Given the description of an element on the screen output the (x, y) to click on. 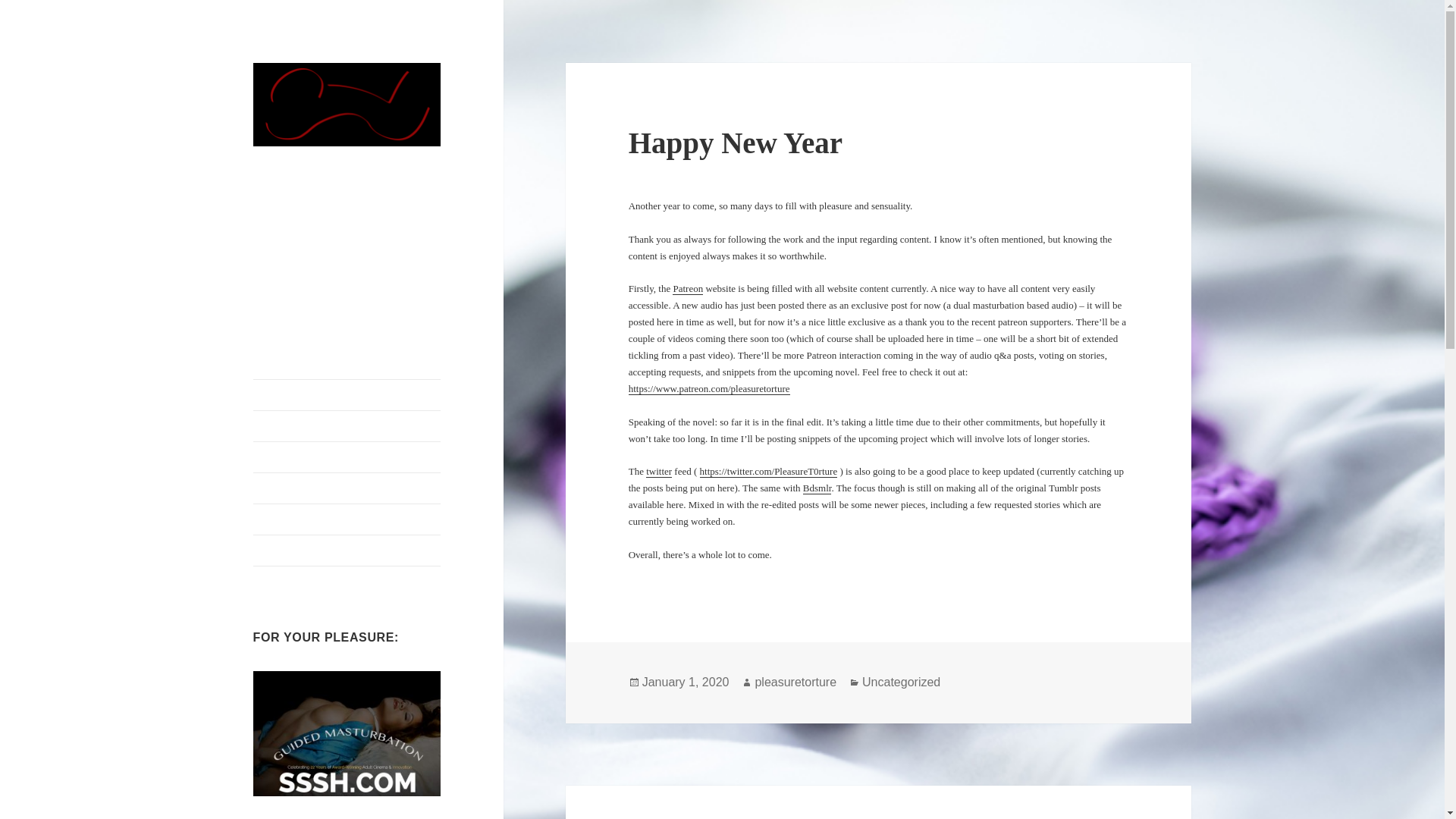
Ask Me Anything (347, 488)
Uncategorized (900, 682)
Categories (347, 519)
January 1, 2020 (685, 682)
pleasuretorture (794, 682)
About PleasureTorture (347, 426)
Patreon (687, 288)
PleasureTorture (331, 169)
Contact (347, 550)
twitter (658, 471)
